Given the description of an element on the screen output the (x, y) to click on. 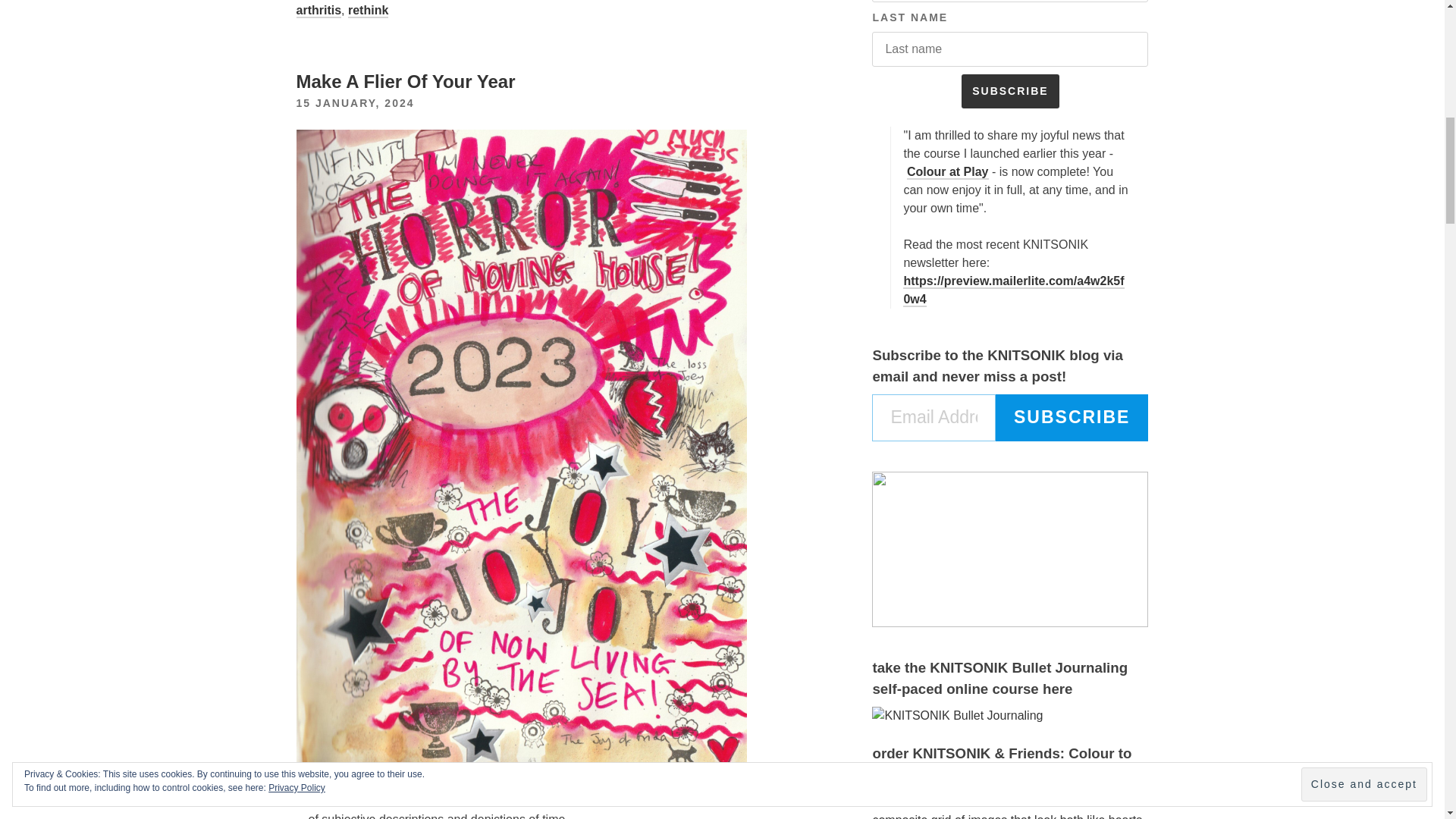
order the knitsonik stranded colourwork sourcebook here (957, 715)
Please fill in this field. (933, 417)
order the knitsonik stranded colourwork sourcebook here (1010, 806)
